Given the description of an element on the screen output the (x, y) to click on. 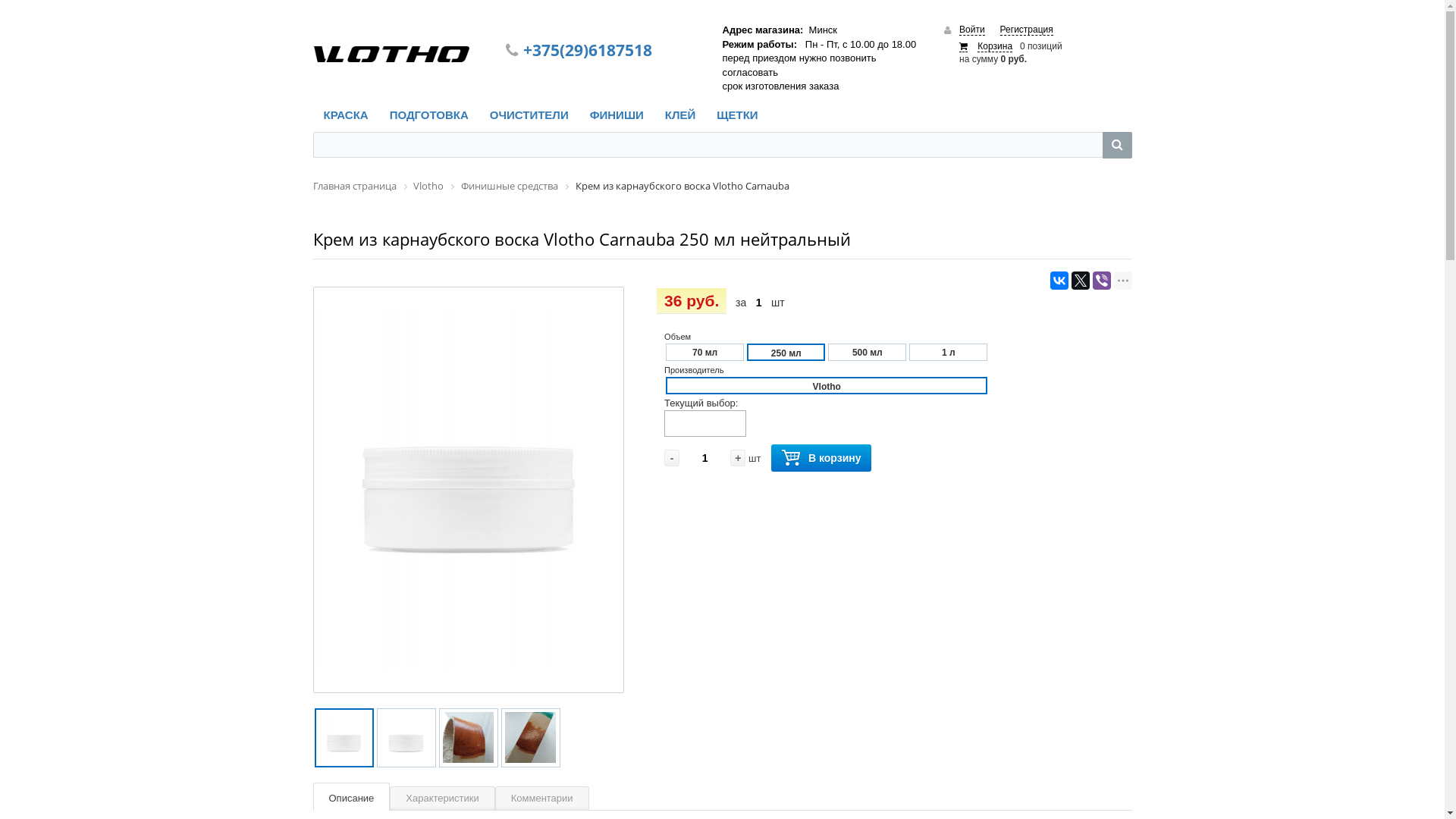
Twitter Element type: hover (1079, 280)
+375(29)6187518 Element type: text (587, 49)
Viber Element type: hover (1101, 280)
Vlotho Element type: text (428, 185)
- Element type: text (671, 457)
Vlotho.png Element type: hover (391, 54)
+ Element type: text (737, 457)
